Given the description of an element on the screen output the (x, y) to click on. 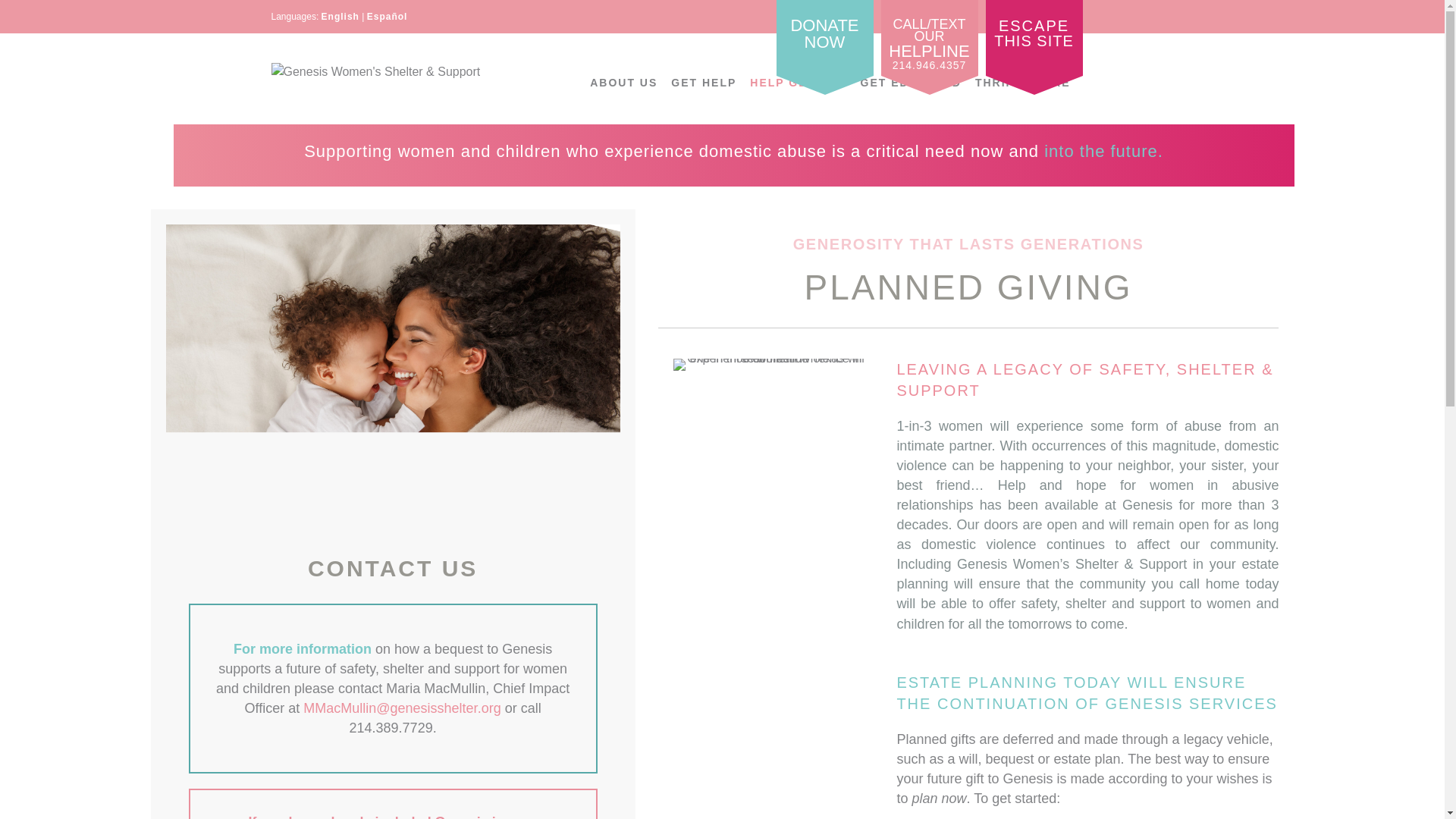
HELP GENESIS (1034, 38)
GET HELP (797, 83)
Love of a mother and baby. Family at home. Lifestyle (702, 83)
ABOUT US (824, 38)
1-in-3-01 (340, 16)
